Given the description of an element on the screen output the (x, y) to click on. 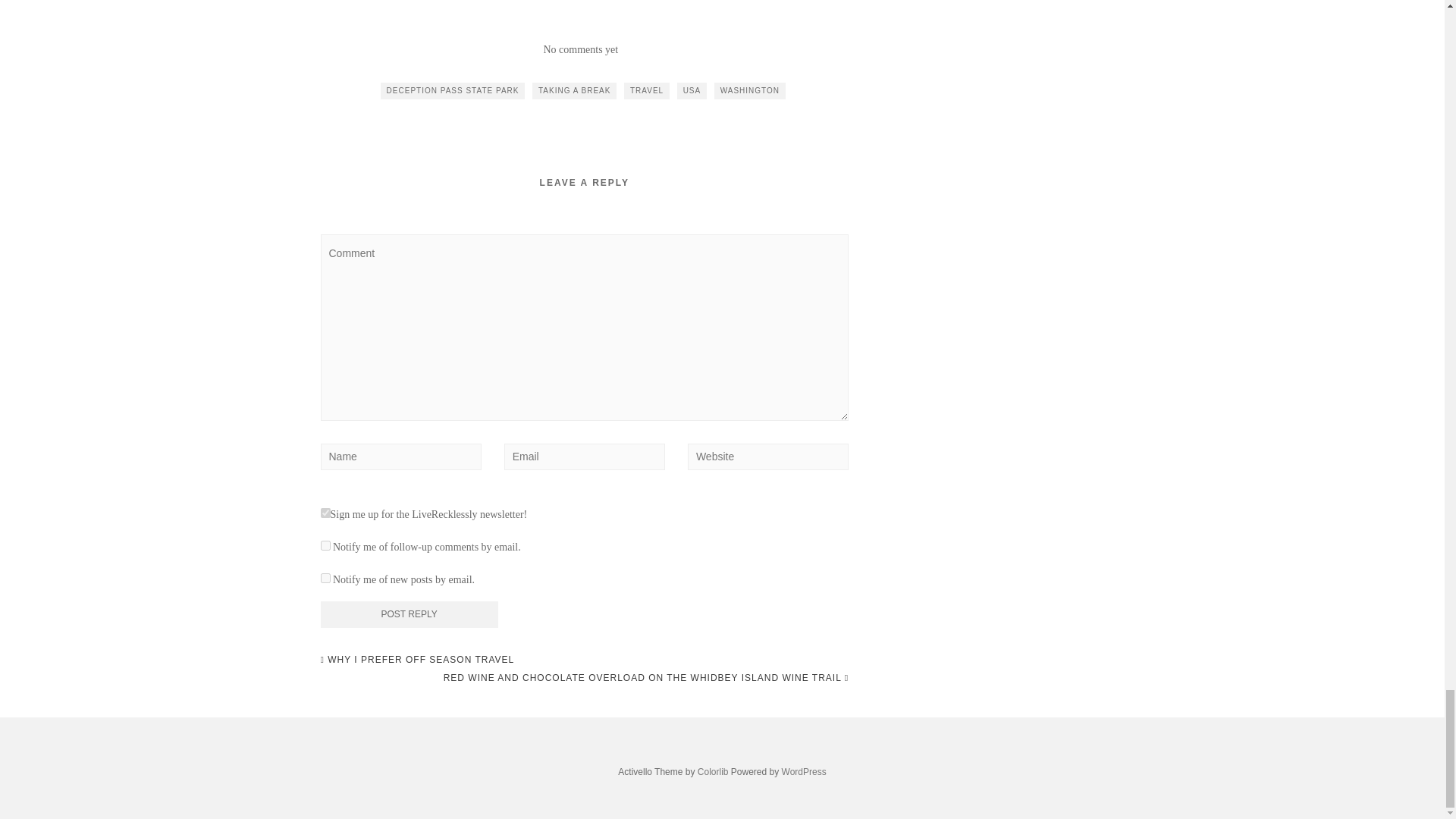
subscribe (325, 545)
1 (325, 512)
Post Reply (408, 614)
subscribe (325, 578)
